Given the description of an element on the screen output the (x, y) to click on. 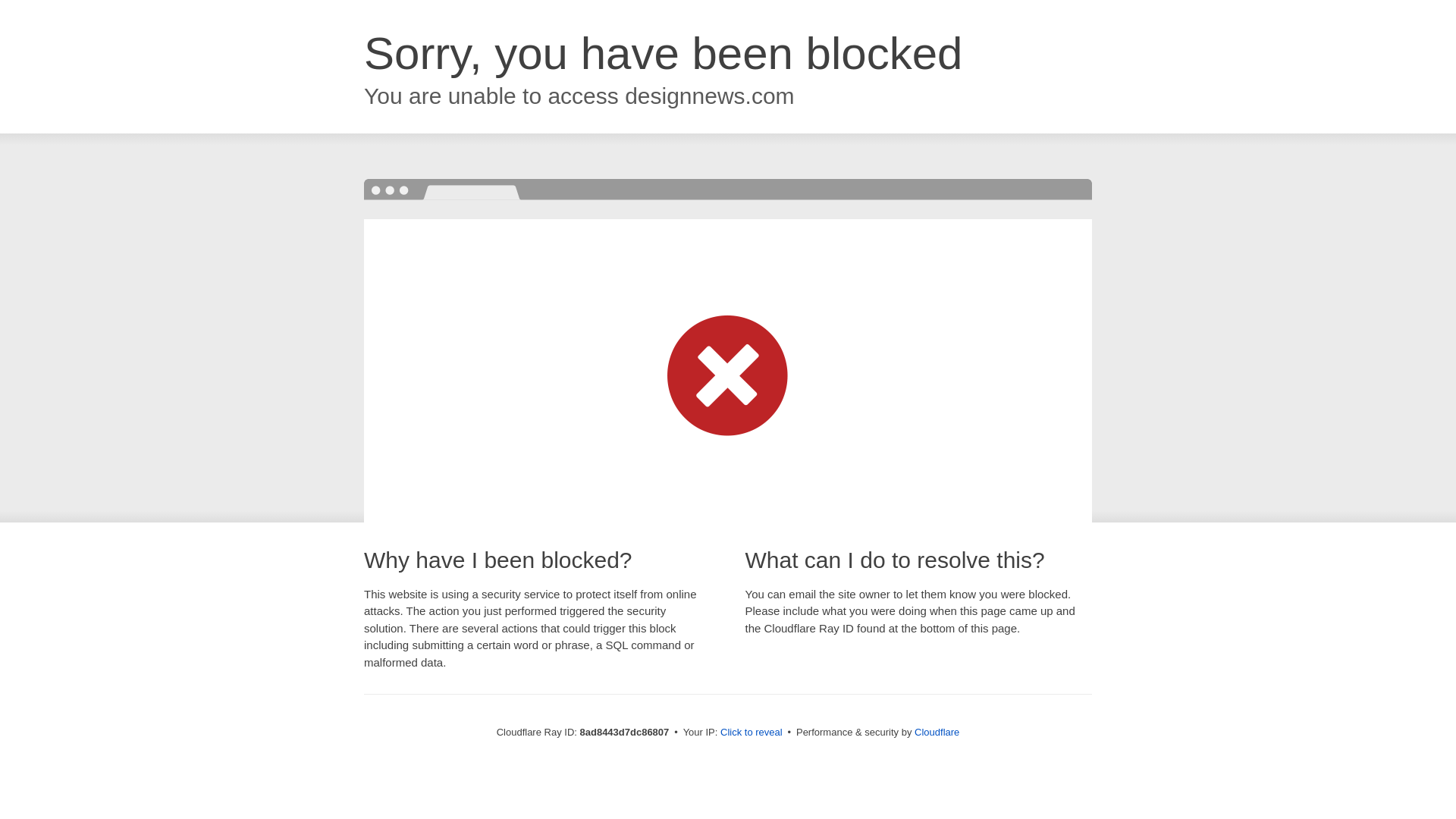
Cloudflare (936, 731)
Click to reveal (751, 732)
